Given the description of an element on the screen output the (x, y) to click on. 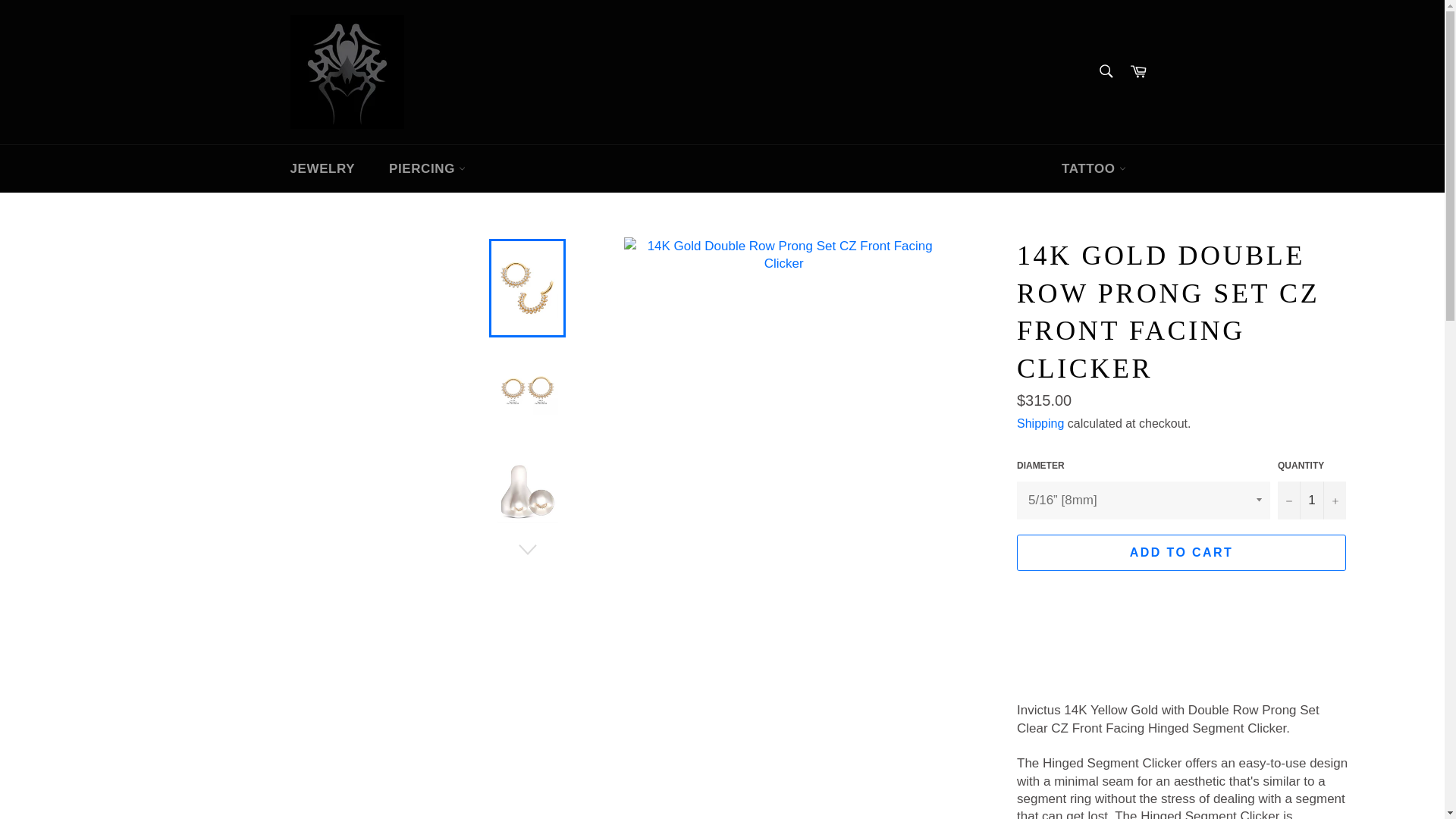
1 (1311, 499)
Search (1104, 70)
JEWELRY (322, 168)
Cart (1138, 71)
